Given the description of an element on the screen output the (x, y) to click on. 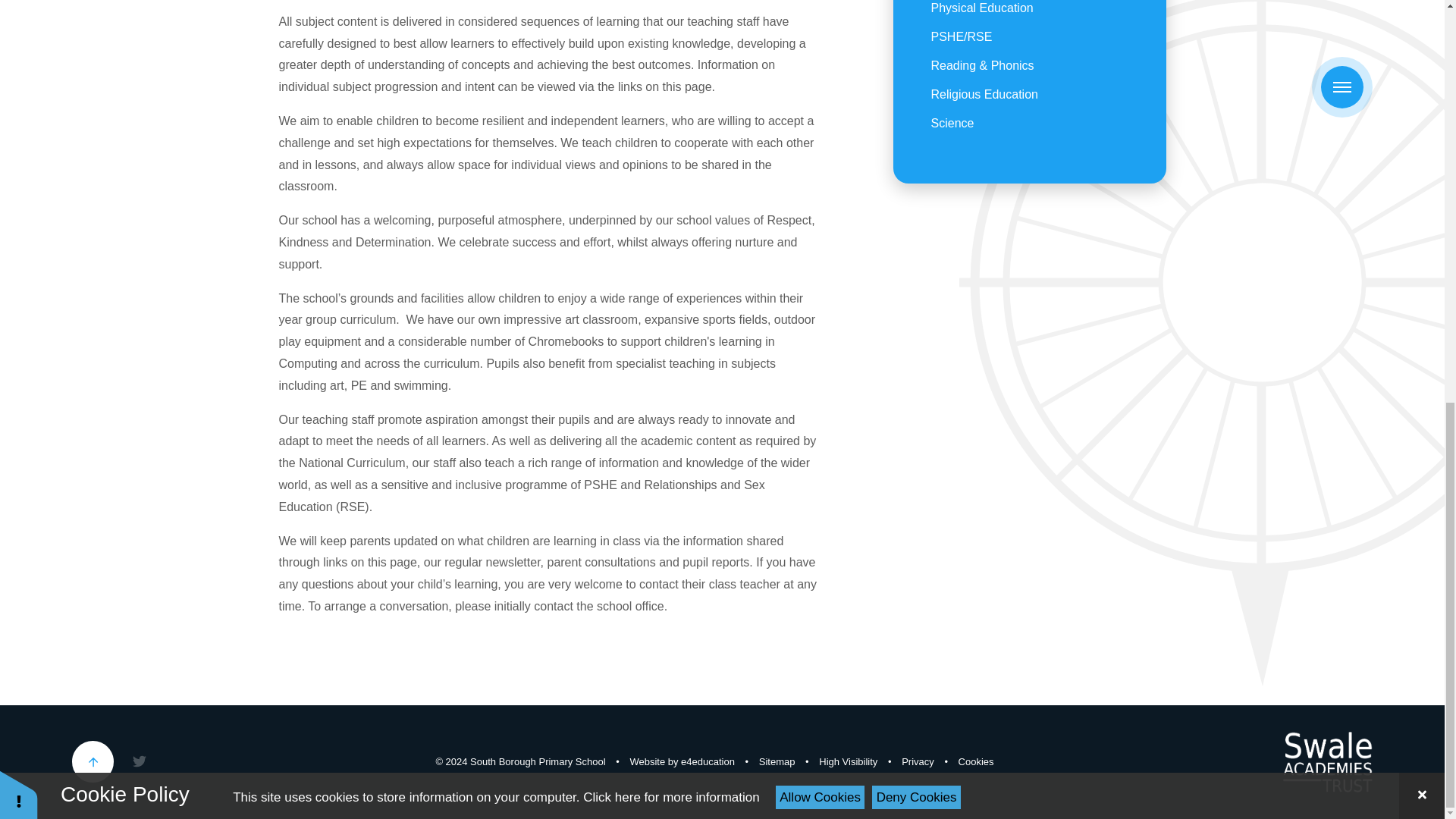
Cookie Settings (18, 14)
See cookie policy (670, 7)
Swale Academies Trust (1327, 762)
Scroll to Top (92, 761)
Allow Cookies (820, 9)
Cookie Settings (976, 761)
Deny Cookies (915, 9)
